Given the description of an element on the screen output the (x, y) to click on. 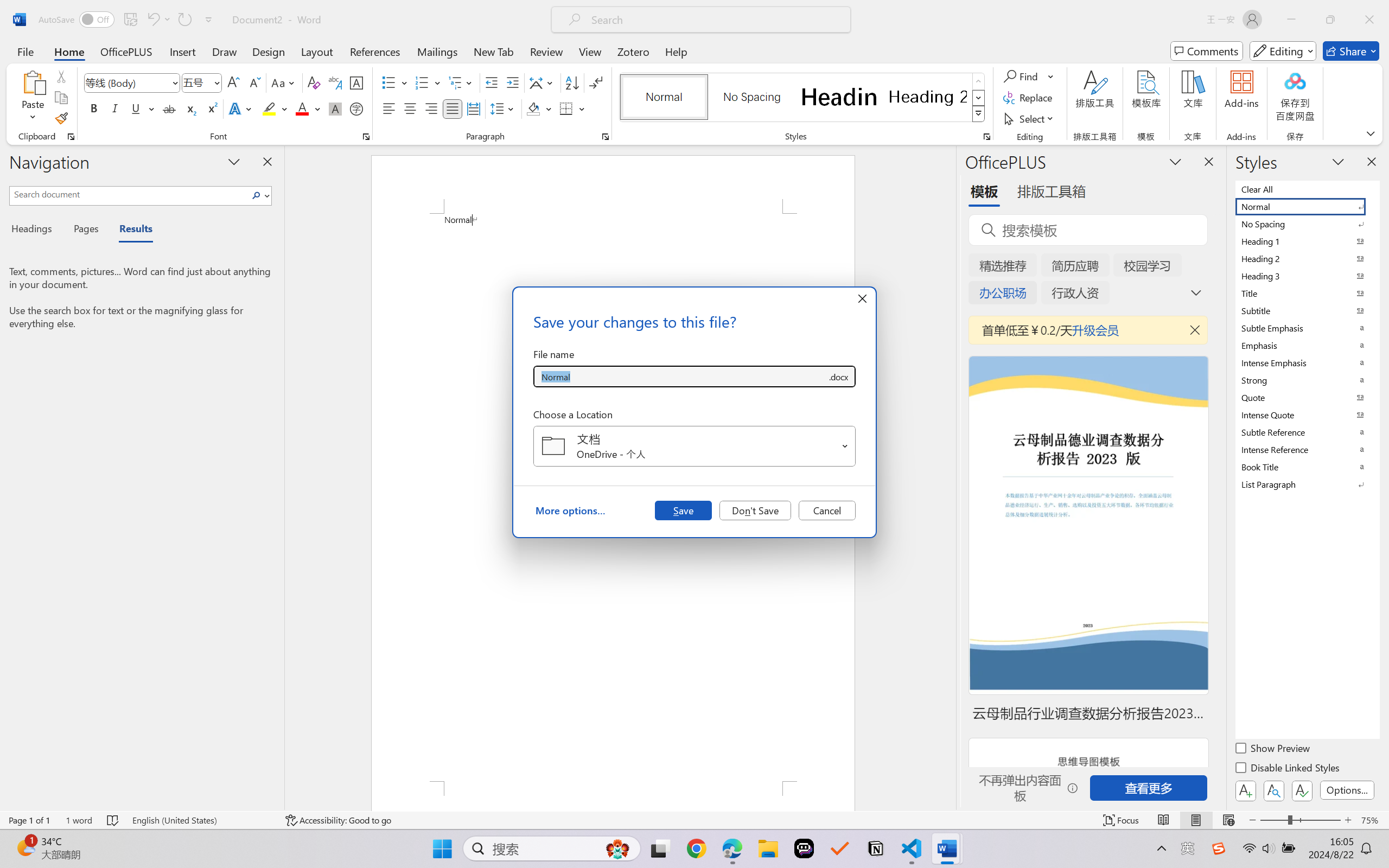
Zotero (632, 51)
AutoSave (76, 19)
Shading RGB(0, 0, 0) (533, 108)
Class: NetUIButton (1301, 790)
Zoom In (1348, 819)
Repeat Doc Close (184, 19)
List Paragraph (1306, 484)
Mode (1283, 50)
Strikethrough (169, 108)
Save as type (837, 376)
Numbering (421, 82)
Enclose Characters... (356, 108)
Shading (539, 108)
